Given the description of an element on the screen output the (x, y) to click on. 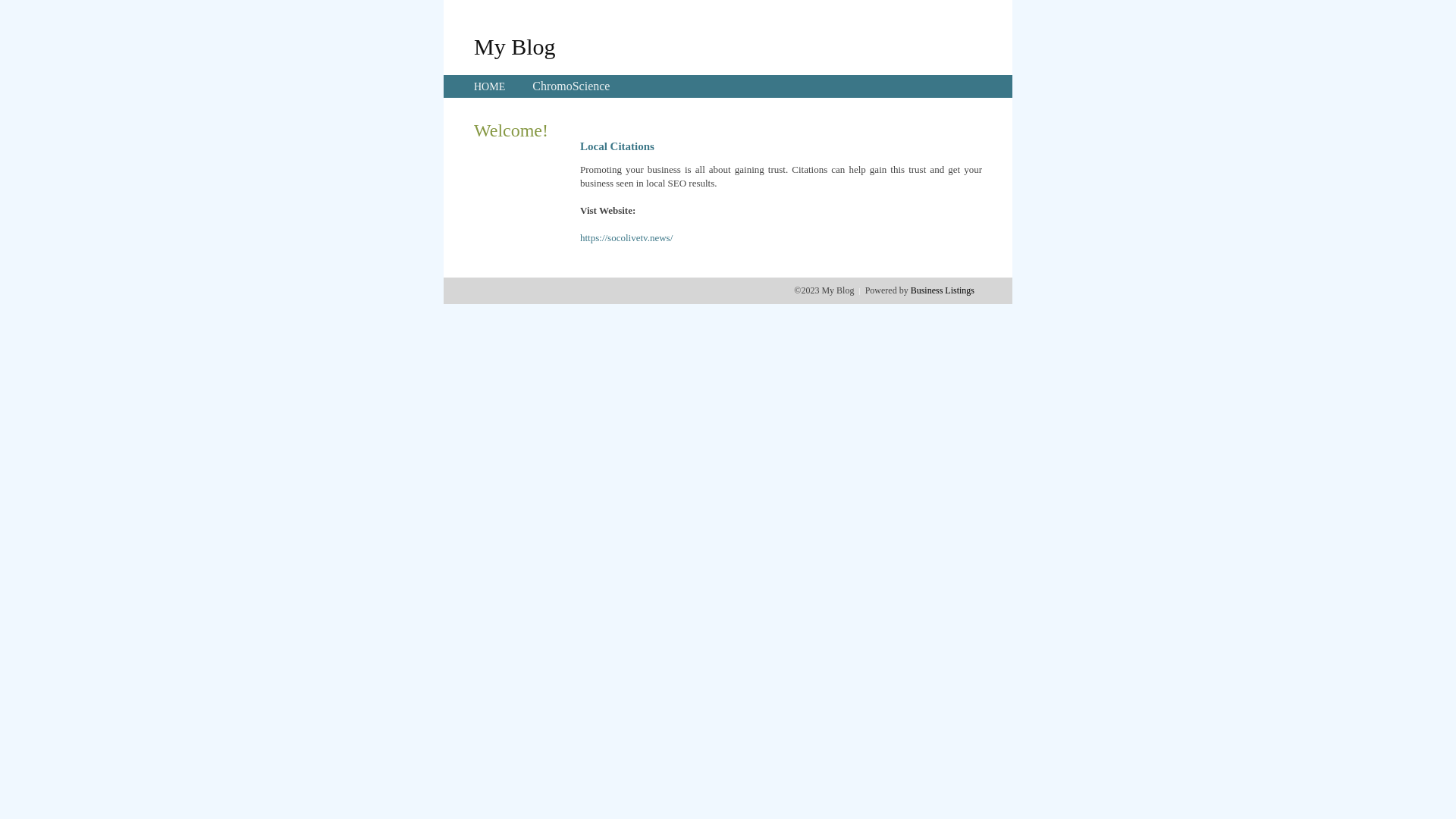
My Blog Element type: text (514, 46)
https://socolivetv.news/ Element type: text (626, 237)
HOME Element type: text (489, 86)
ChromoScience Element type: text (570, 85)
Business Listings Element type: text (942, 290)
